Given the description of an element on the screen output the (x, y) to click on. 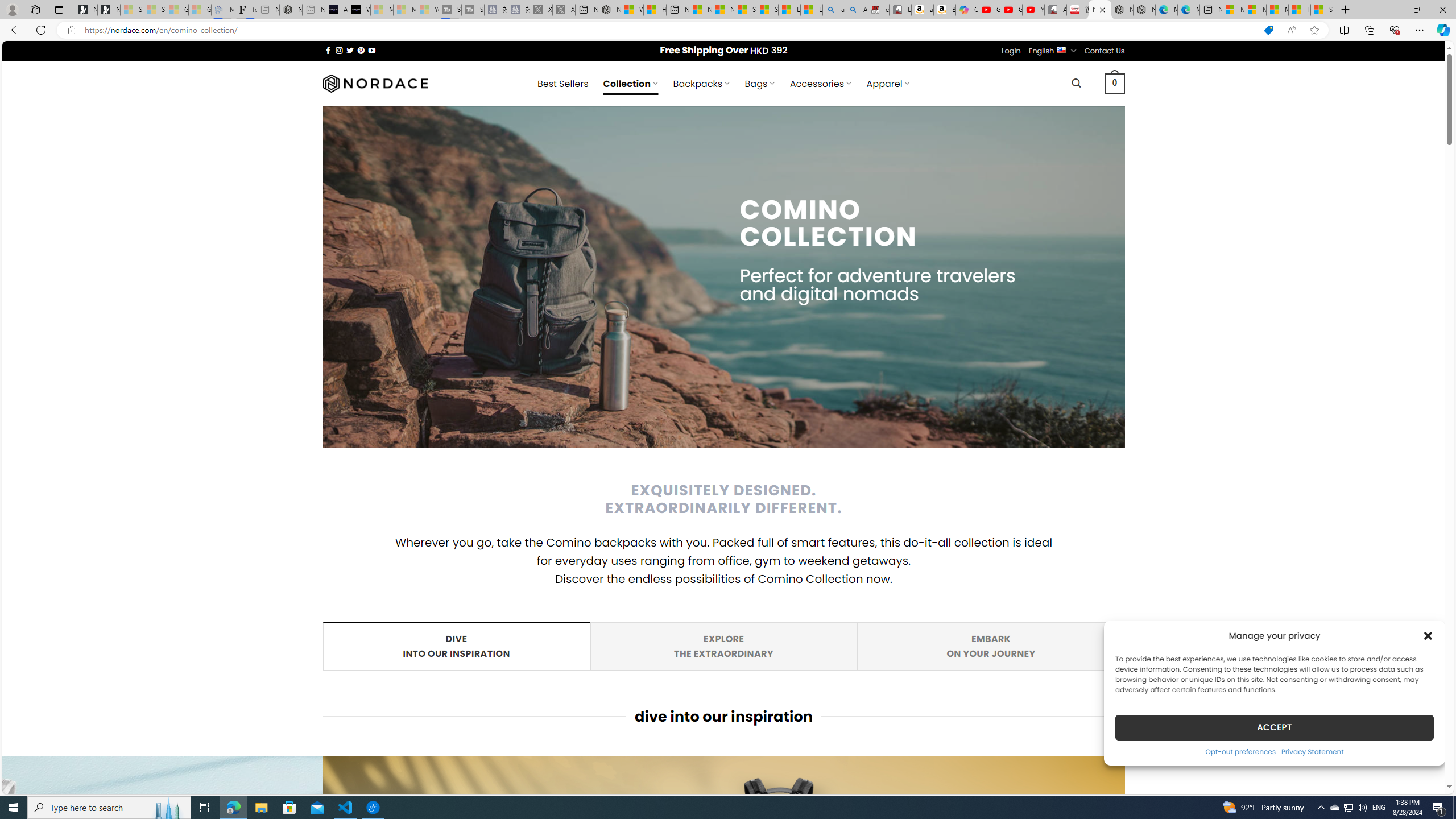
amazon.in/dp/B0CX59H5W7/?tag=gsmcom05-21 (923, 9)
Nordace - My Account (609, 9)
Huge shark washes ashore at New York City beach | Watch (655, 9)
  0   (1115, 83)
